Given the description of an element on the screen output the (x, y) to click on. 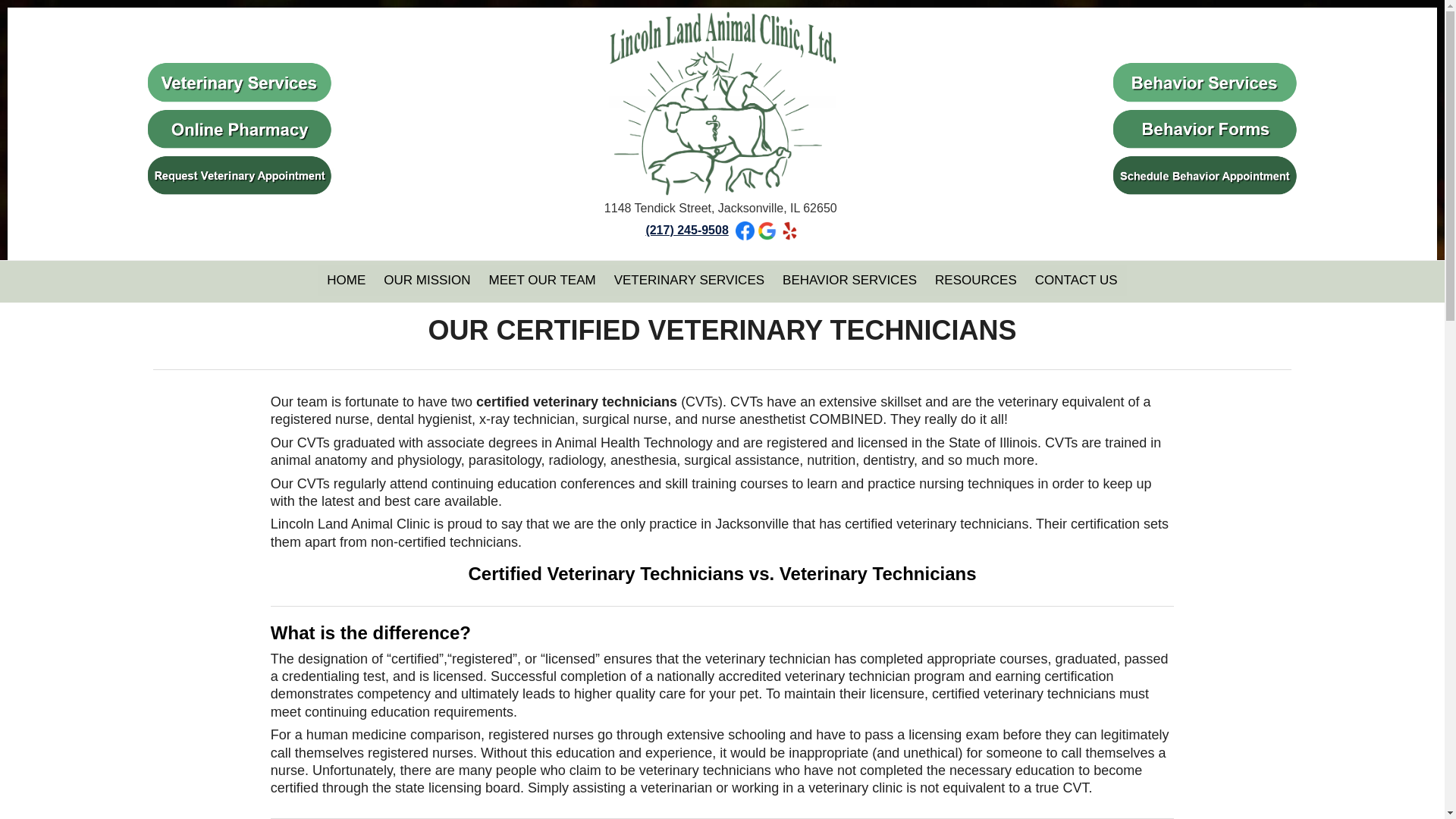
Call us today! (686, 229)
Visit our facebook page! (744, 229)
Behavior Forms (1204, 127)
Schedule Veterinary Appointment (239, 174)
Behavior Services button (1204, 81)
Google icon (766, 230)
Facebook icon (744, 230)
Request an Appointment (239, 173)
Lincoln Land logo (721, 103)
Behavior Forms button (1204, 128)
Yelp icon (789, 230)
Read our Google reviews! (766, 229)
Vet Services Button (239, 81)
Homepage (721, 101)
Veterinary Services (239, 81)
